Given the description of an element on the screen output the (x, y) to click on. 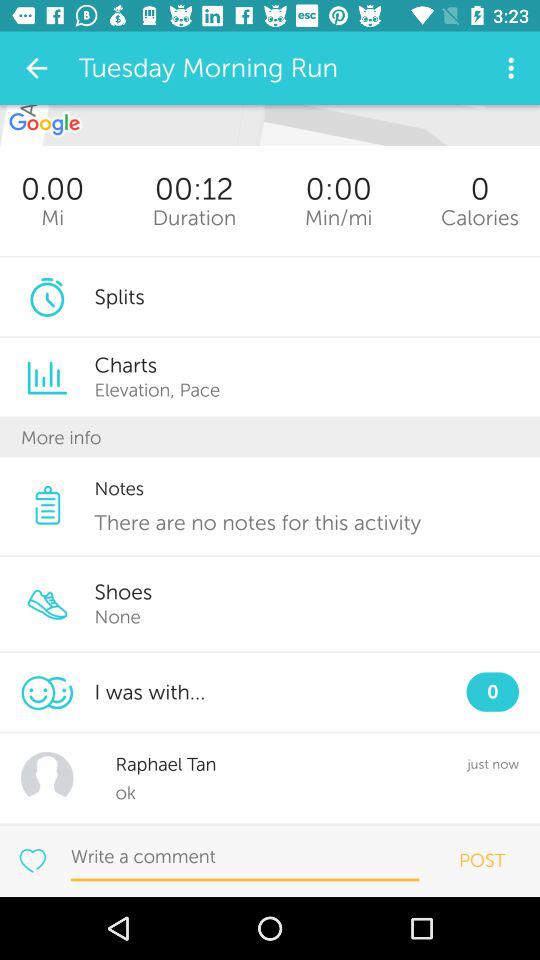
turn on item to the left of the post icon (244, 857)
